Given the description of an element on the screen output the (x, y) to click on. 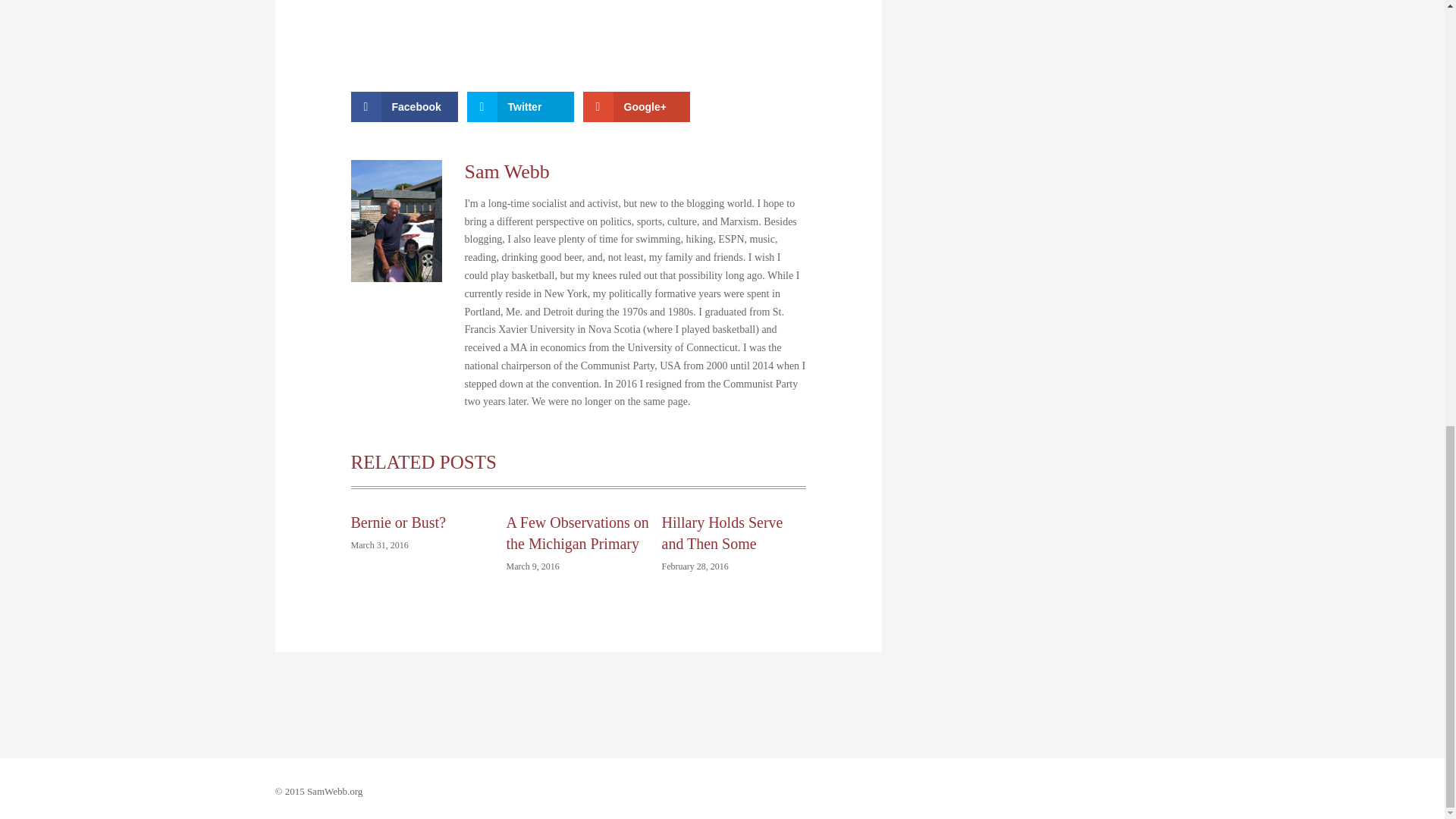
Bernie or Bust? (397, 522)
Hillary Holds Serve and Then Some (722, 533)
A Few Observations on the Michigan Primary (577, 533)
Twitter (520, 106)
Facebook (403, 106)
